Given the description of an element on the screen output the (x, y) to click on. 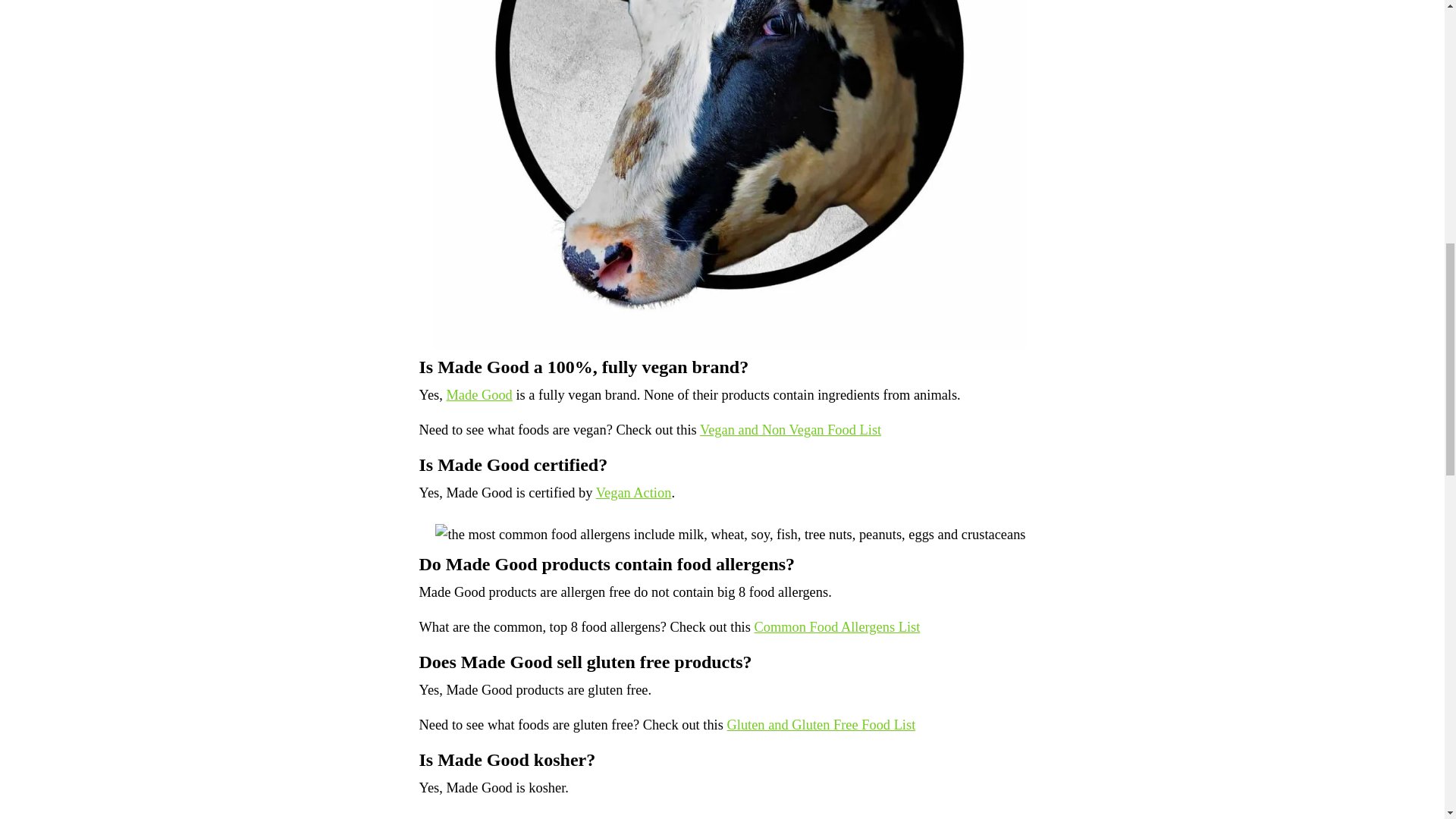
Gluten and Gluten Free Food List (820, 724)
Vegan Action (633, 492)
Vegan and Non Vegan Food List (790, 428)
Made Good (478, 394)
Common Food Allergens List (837, 626)
